Given the description of an element on the screen output the (x, y) to click on. 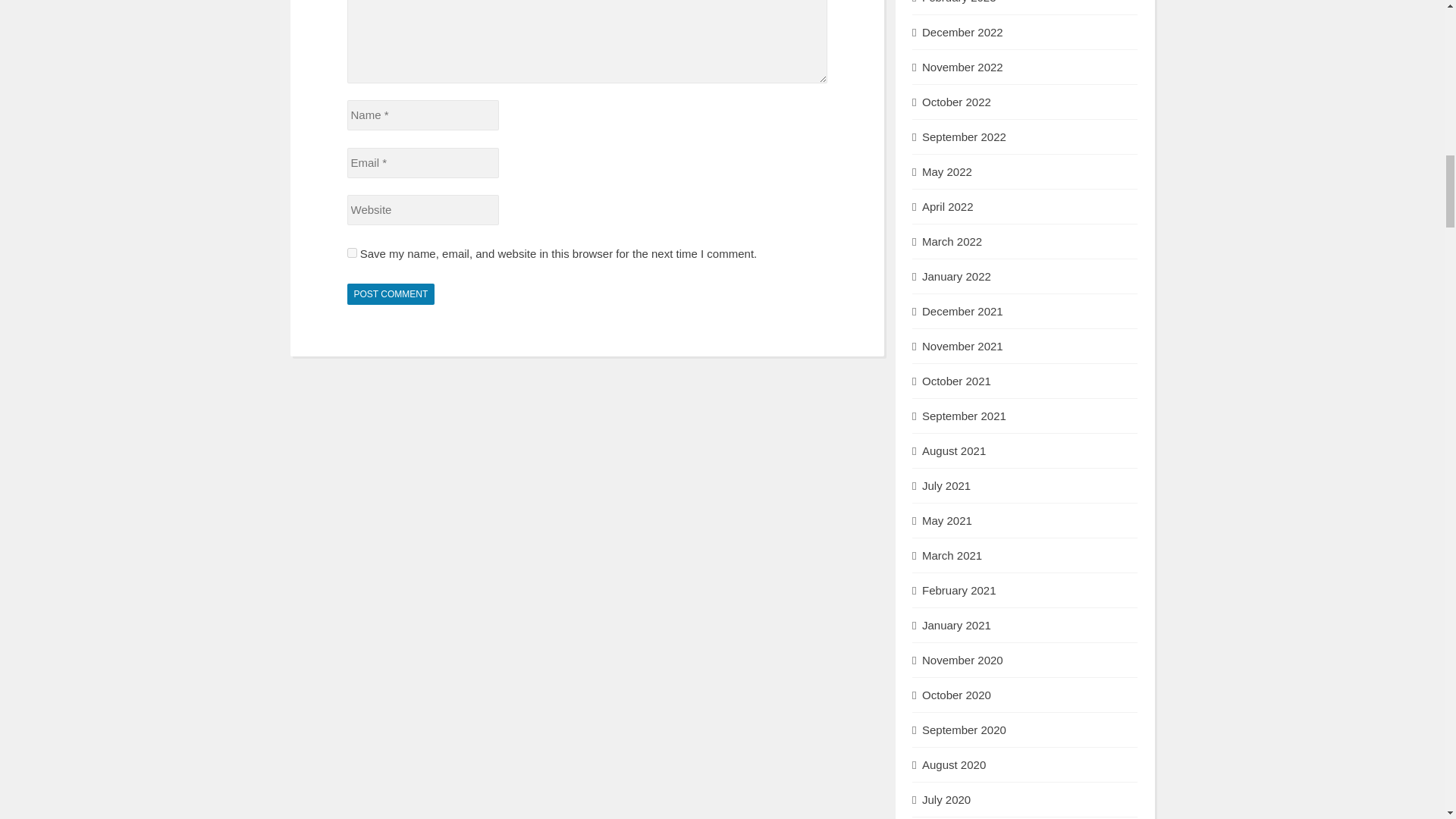
Post Comment (391, 293)
Post Comment (391, 293)
yes (351, 252)
